Given the description of an element on the screen output the (x, y) to click on. 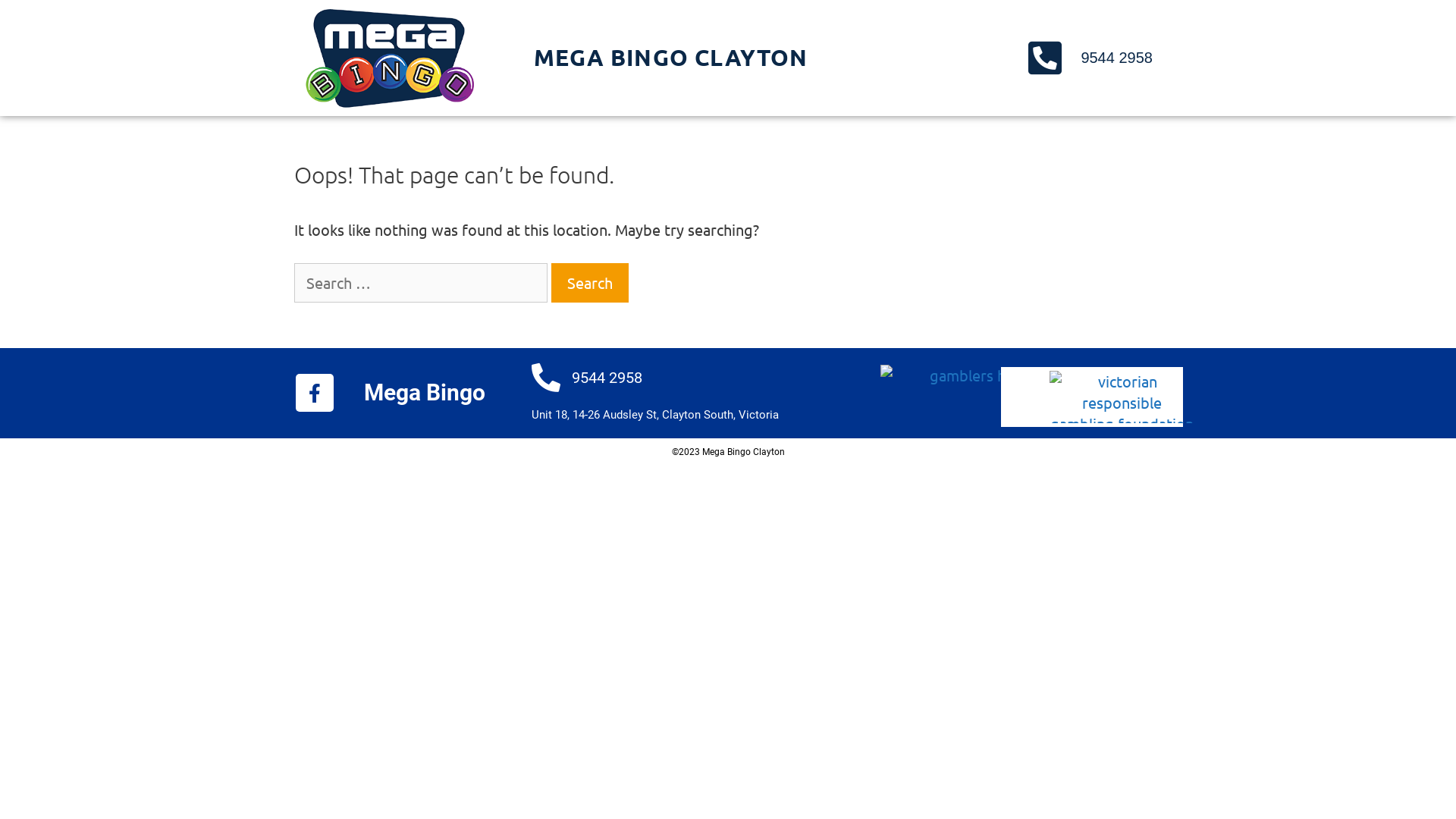
Search for: Element type: hover (420, 282)
Mega Bingo Element type: text (424, 392)
Search Element type: text (588, 282)
